Given the description of an element on the screen output the (x, y) to click on. 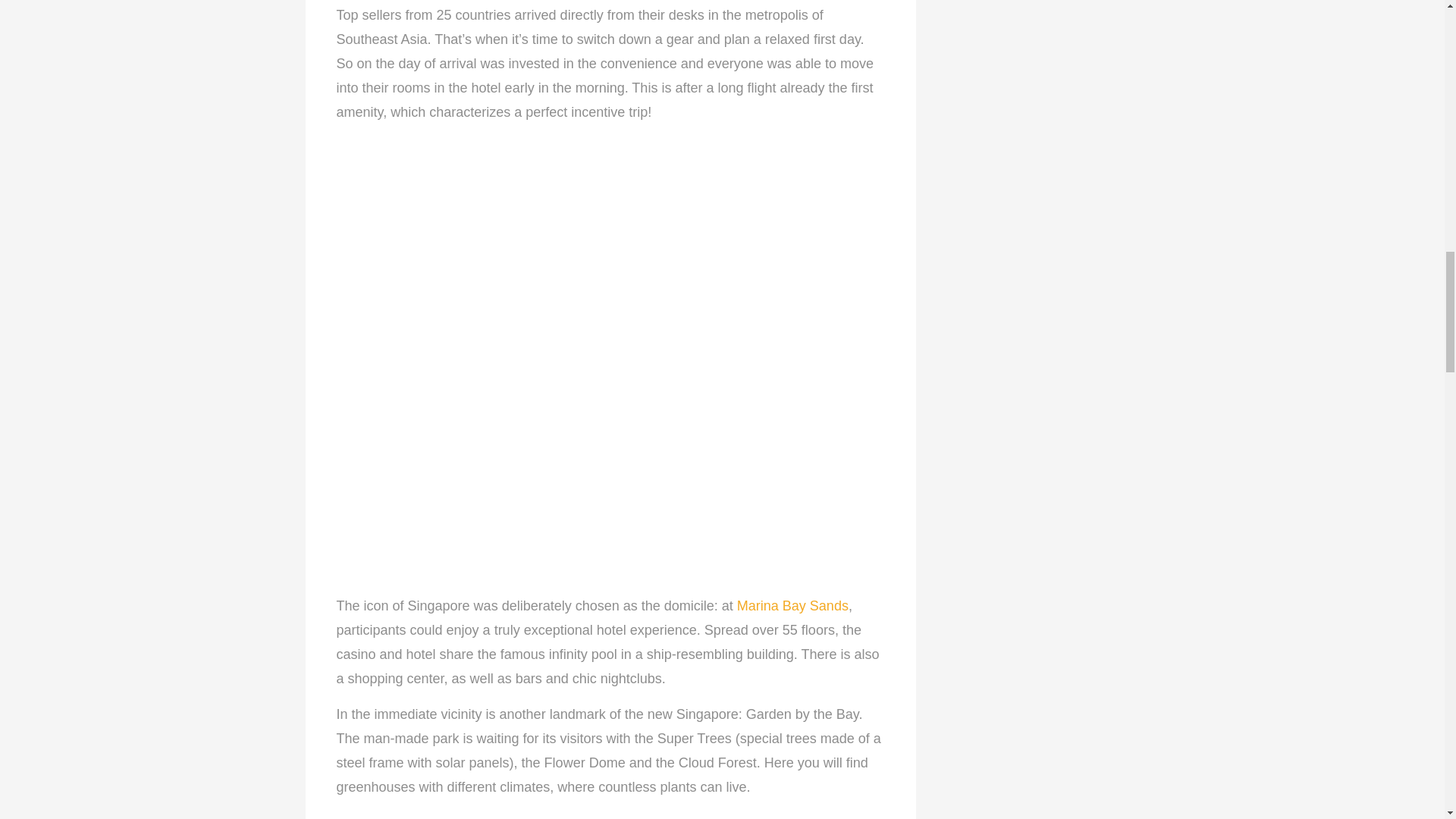
Marina Bay Sands (792, 605)
